Given the description of an element on the screen output the (x, y) to click on. 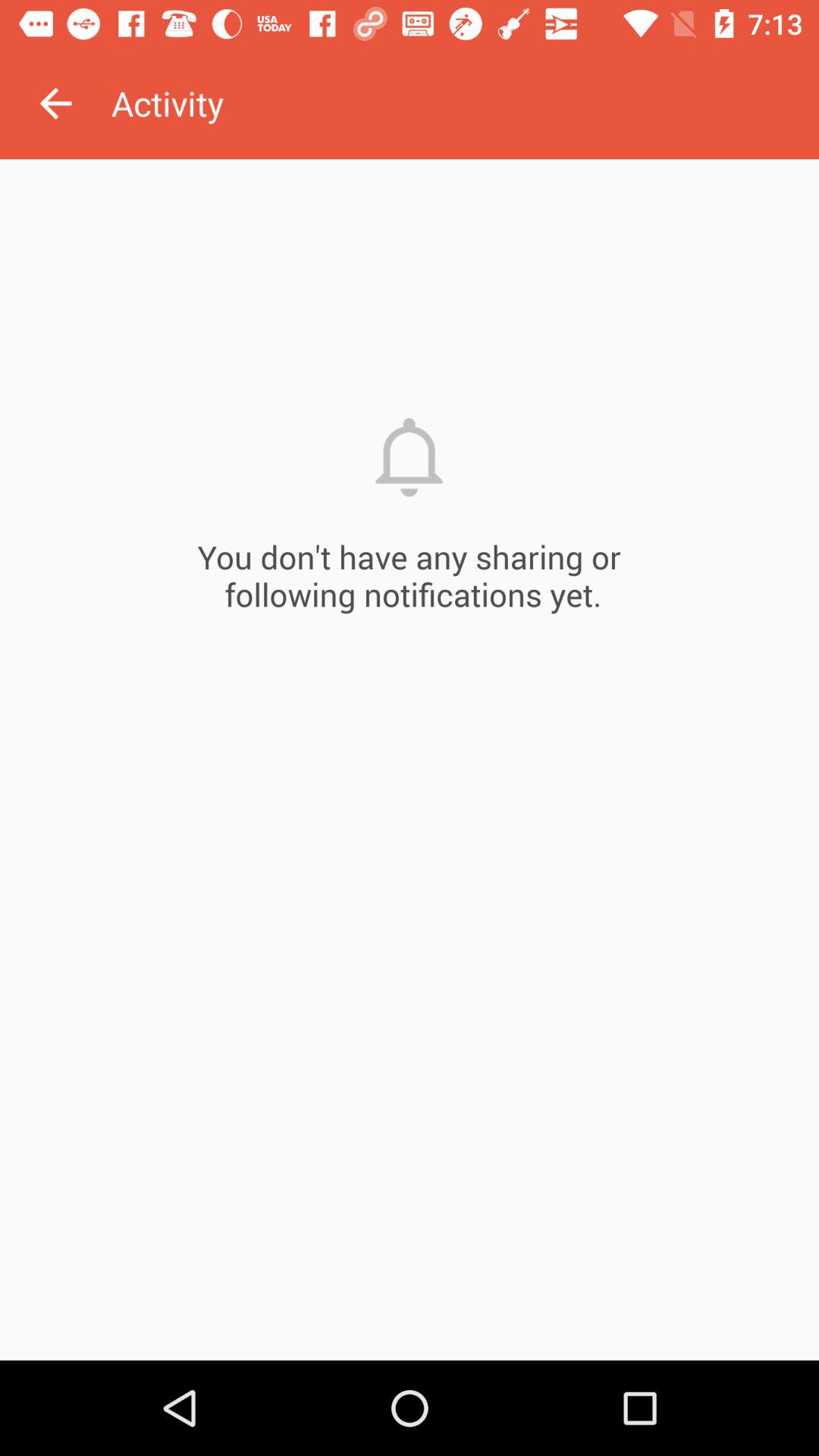
turn on icon at the top left corner (55, 103)
